Given the description of an element on the screen output the (x, y) to click on. 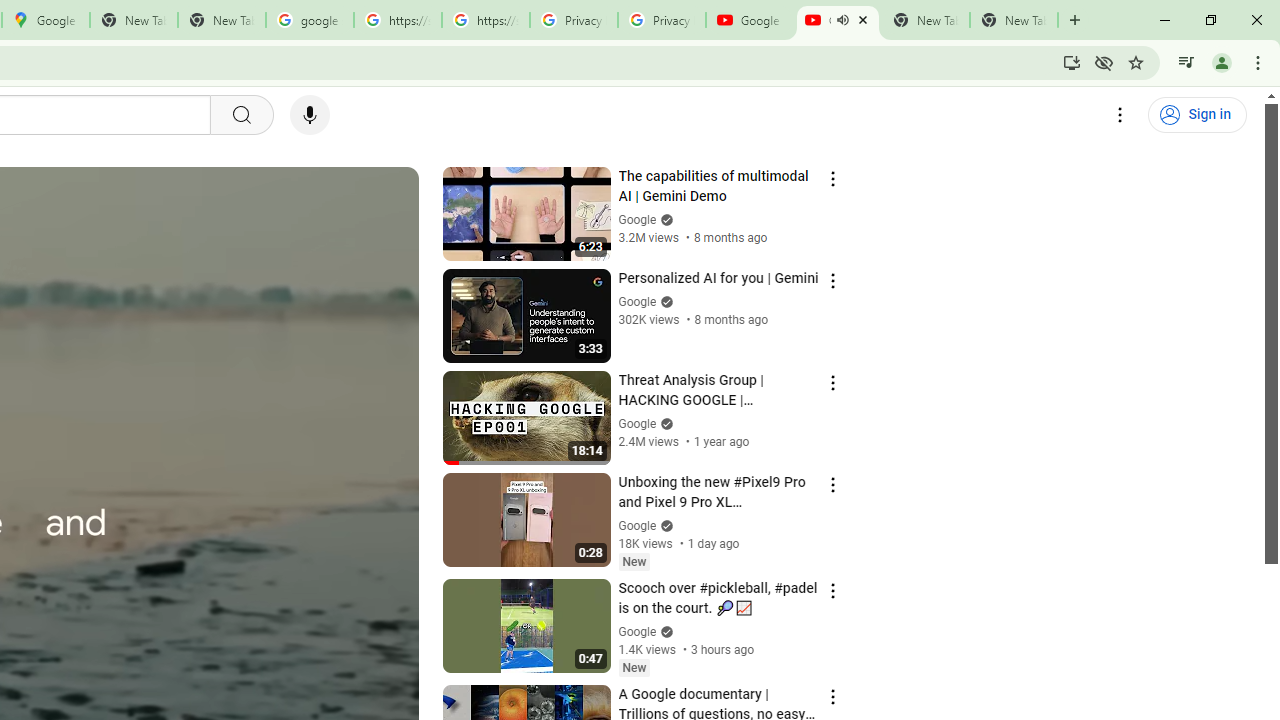
Third-party cookies blocked (1103, 62)
Verified (664, 631)
https://scholar.google.com/ (485, 20)
You (1221, 62)
New (634, 667)
Bookmark this tab (1135, 62)
Settings (1119, 115)
https://scholar.google.com/ (397, 20)
Install YouTube (1071, 62)
Sign in (1197, 115)
Google - YouTube (749, 20)
